Given the description of an element on the screen output the (x, y) to click on. 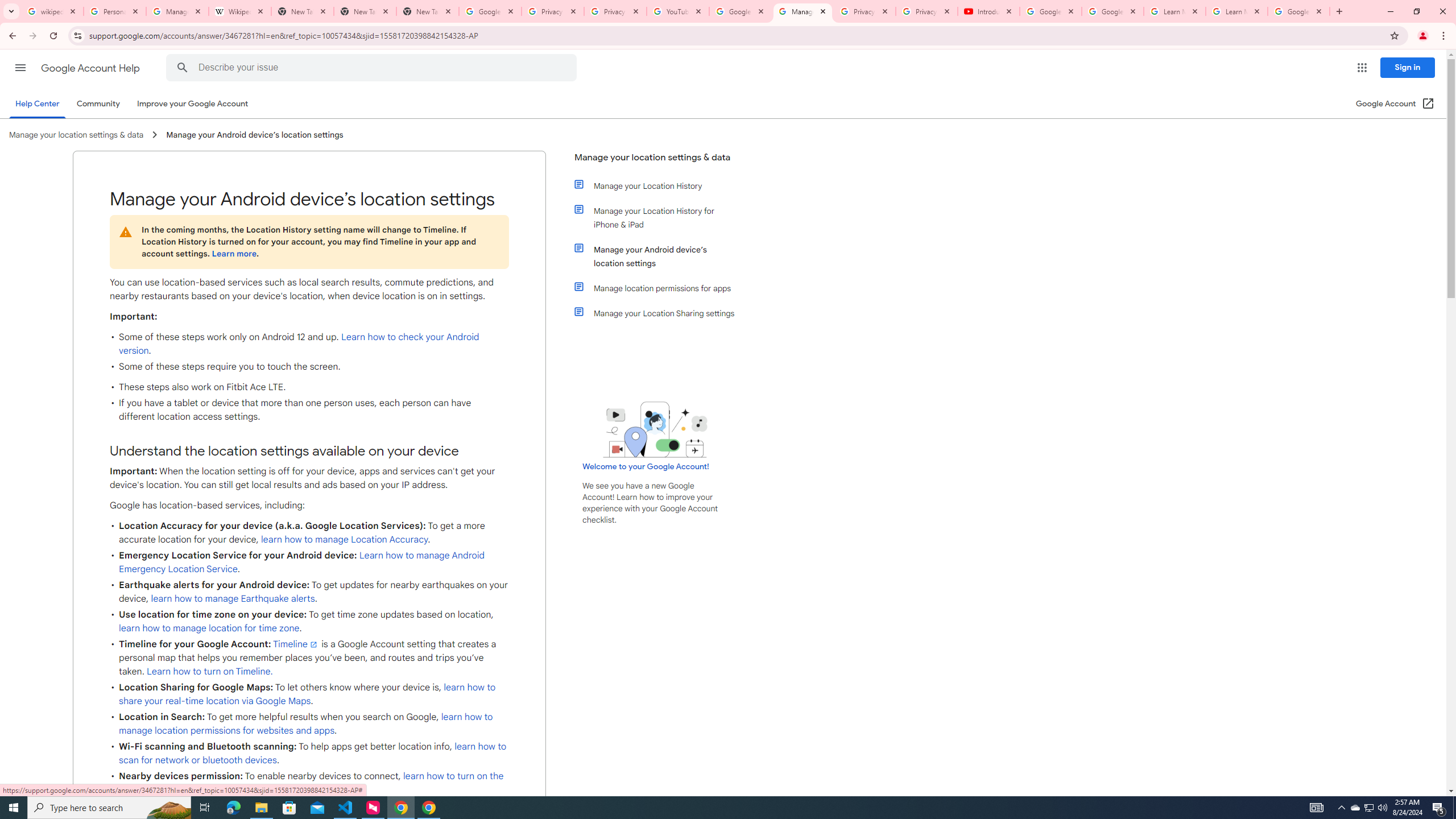
Improve your Google Account (192, 103)
Manage your Location Sharing settings (661, 312)
Learn how to manage Android Emergency Location Service (301, 562)
Google Account (Open in a new window) (1395, 103)
Google Account Help (1050, 11)
Learning Center home page image (655, 429)
